Given the description of an element on the screen output the (x, y) to click on. 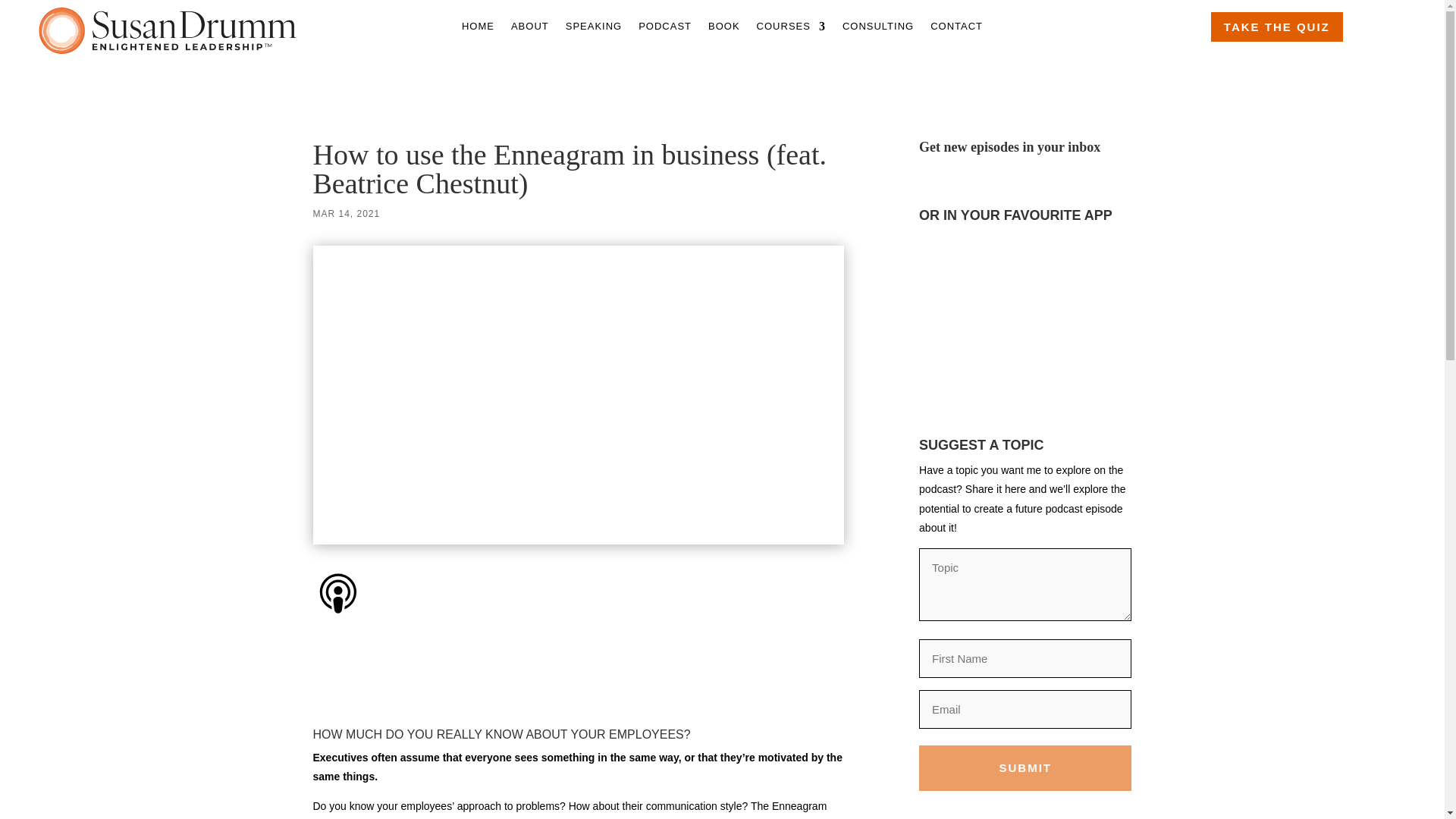
CONTACT (956, 29)
CONSULTING (878, 29)
Submit (1024, 768)
BOOK (723, 29)
COURSES (791, 29)
SPEAKING (593, 29)
PODCAST (665, 29)
TAKE THE QUIZ (1276, 26)
HOME (478, 29)
Submit (1024, 768)
ABOUT (529, 29)
Susan Drumm (168, 30)
